Given the description of an element on the screen output the (x, y) to click on. 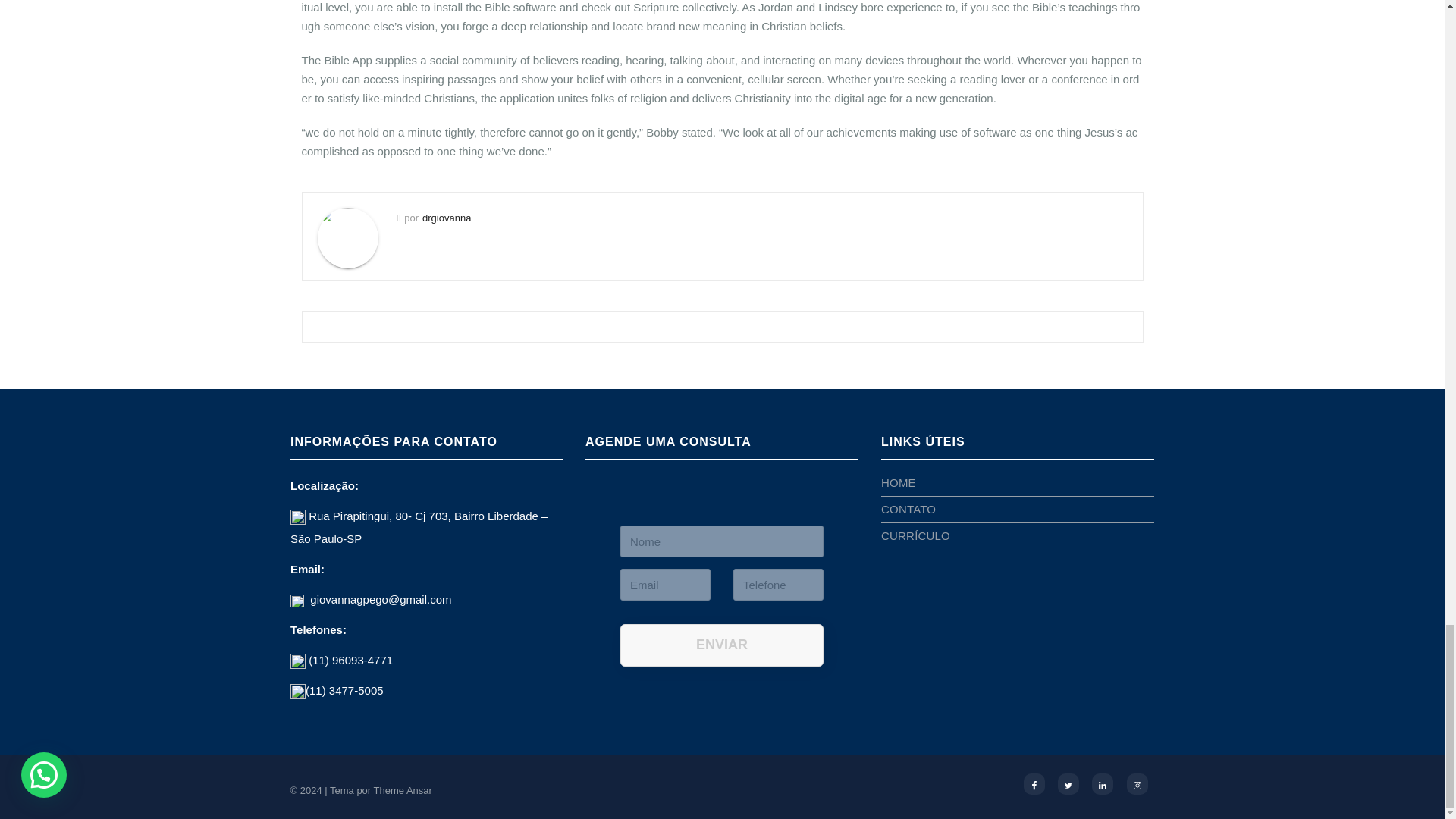
drgiovanna (446, 217)
twitter (1068, 783)
Facebook (1034, 783)
CONTATO (908, 508)
ENVIAR (722, 645)
linkedin (1102, 783)
Theme Ansar (403, 790)
HOME (897, 481)
Instagram (1137, 783)
